Given the description of an element on the screen output the (x, y) to click on. 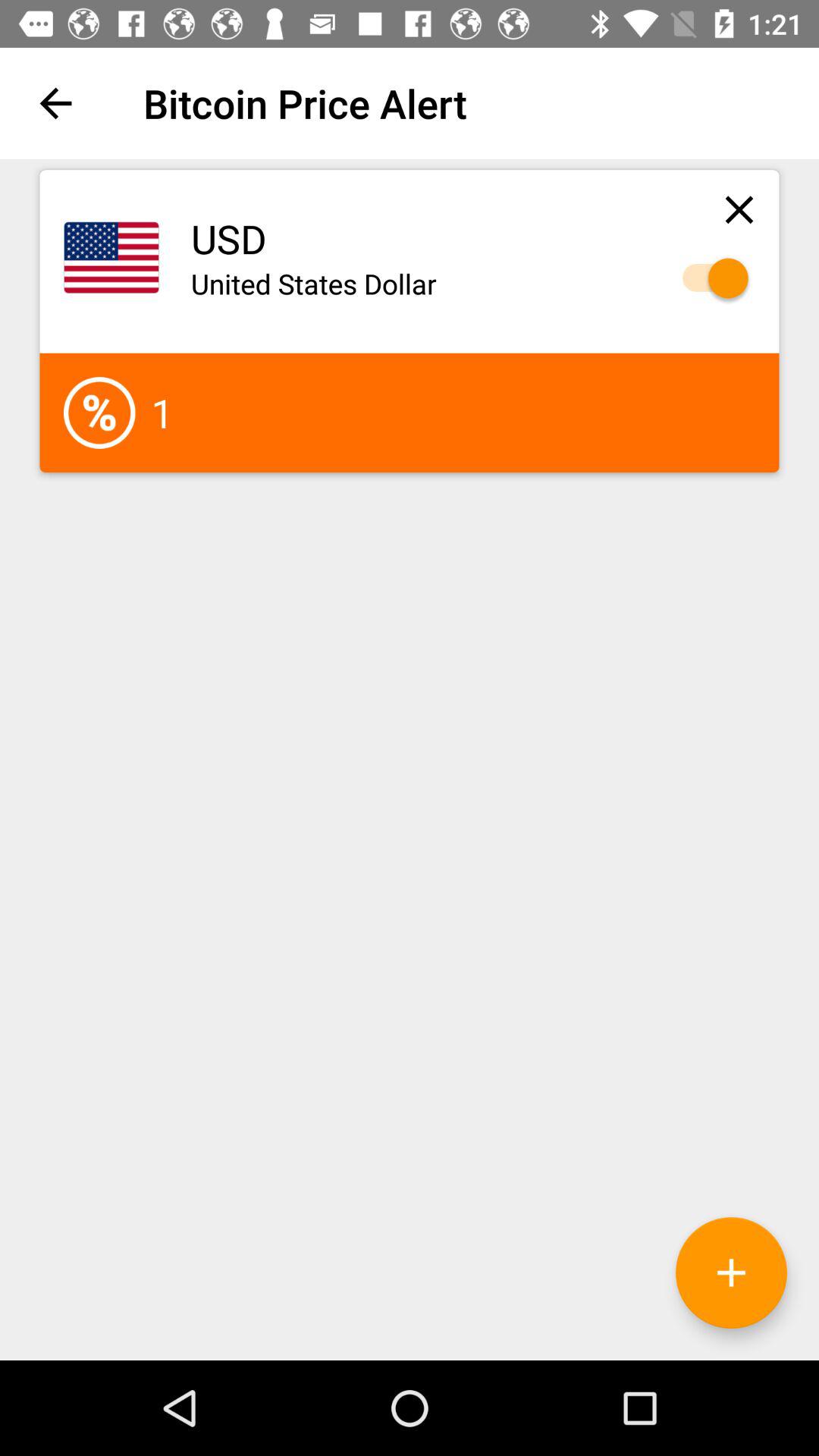
open the item to the left of bitcoin price alert icon (55, 103)
